Given the description of an element on the screen output the (x, y) to click on. 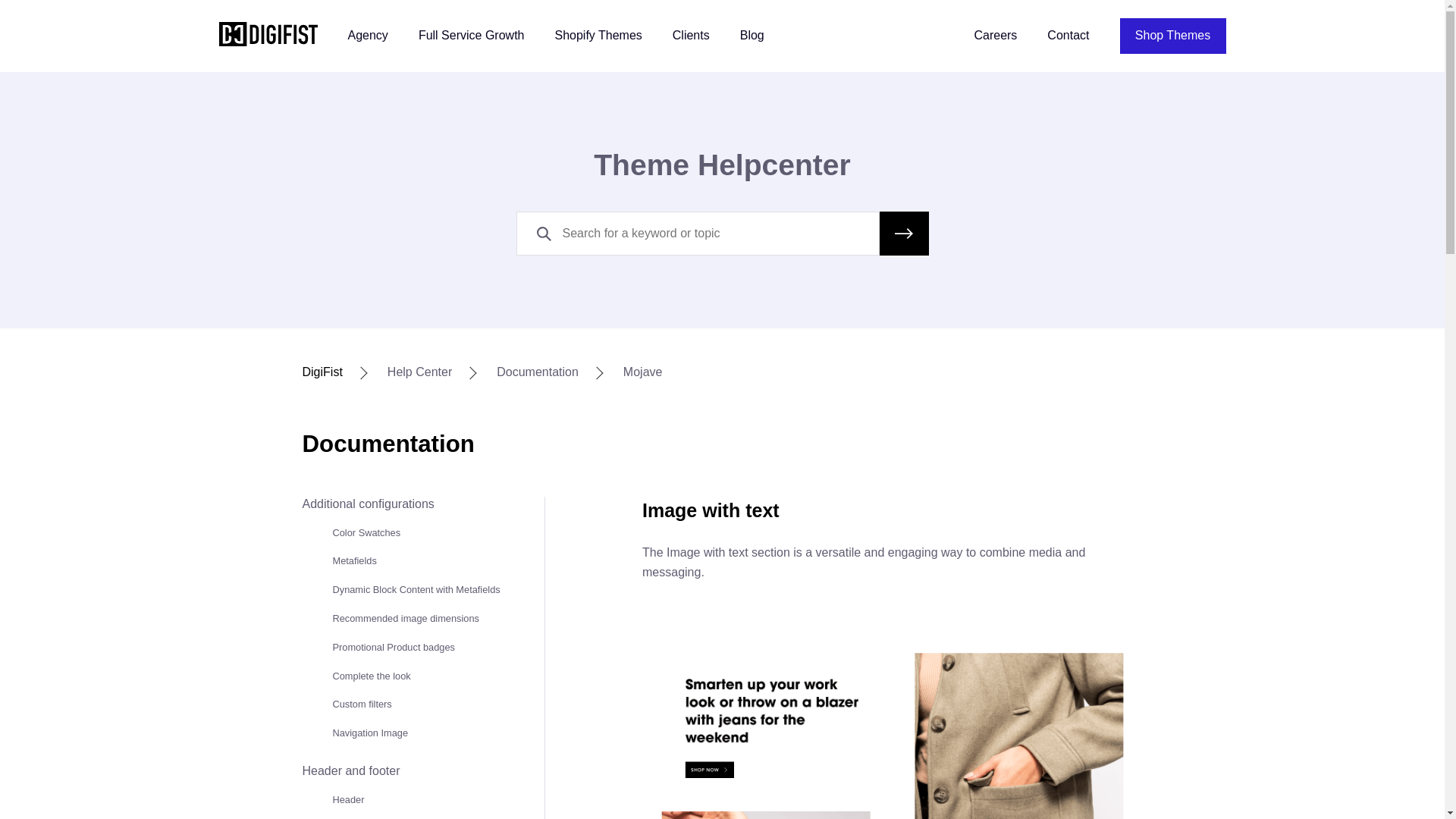
Recommended image dimensions (405, 618)
Full Service Growth (471, 35)
Promotional Product badges (392, 646)
DigiFist (321, 372)
Header and footer (349, 770)
Color Swatches (365, 532)
Shop Themes (1172, 36)
Shopify Themes (598, 35)
Careers (995, 35)
Complete the look (370, 675)
Navigation Image (369, 732)
Header (347, 799)
Contact (1067, 35)
Dynamic Block Content with Metafields (415, 589)
logo (267, 35)
